Given the description of an element on the screen output the (x, y) to click on. 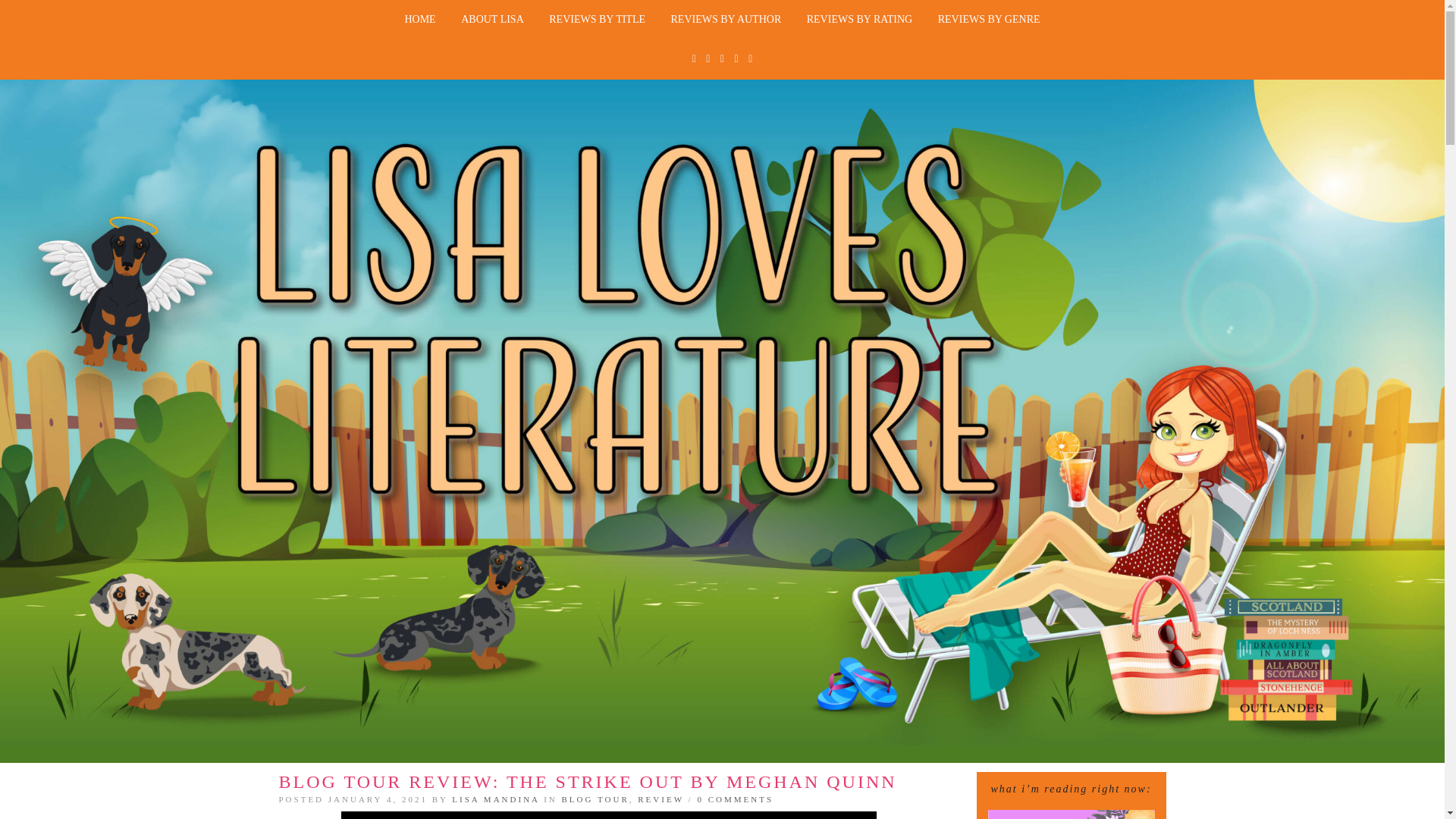
HOME (419, 19)
0 COMMENTS (735, 798)
REVIEWS BY AUTHOR (726, 19)
REVIEWS BY TITLE (596, 19)
REVIEW (660, 798)
REVIEWS BY GENRE (988, 19)
REVIEWS BY RATING (858, 19)
ABOUT LISA (492, 19)
View all posts in Blog Tour (595, 798)
View all posts in Review (660, 798)
BLOG TOUR (595, 798)
LISA MANDINA (494, 798)
